Given the description of an element on the screen output the (x, y) to click on. 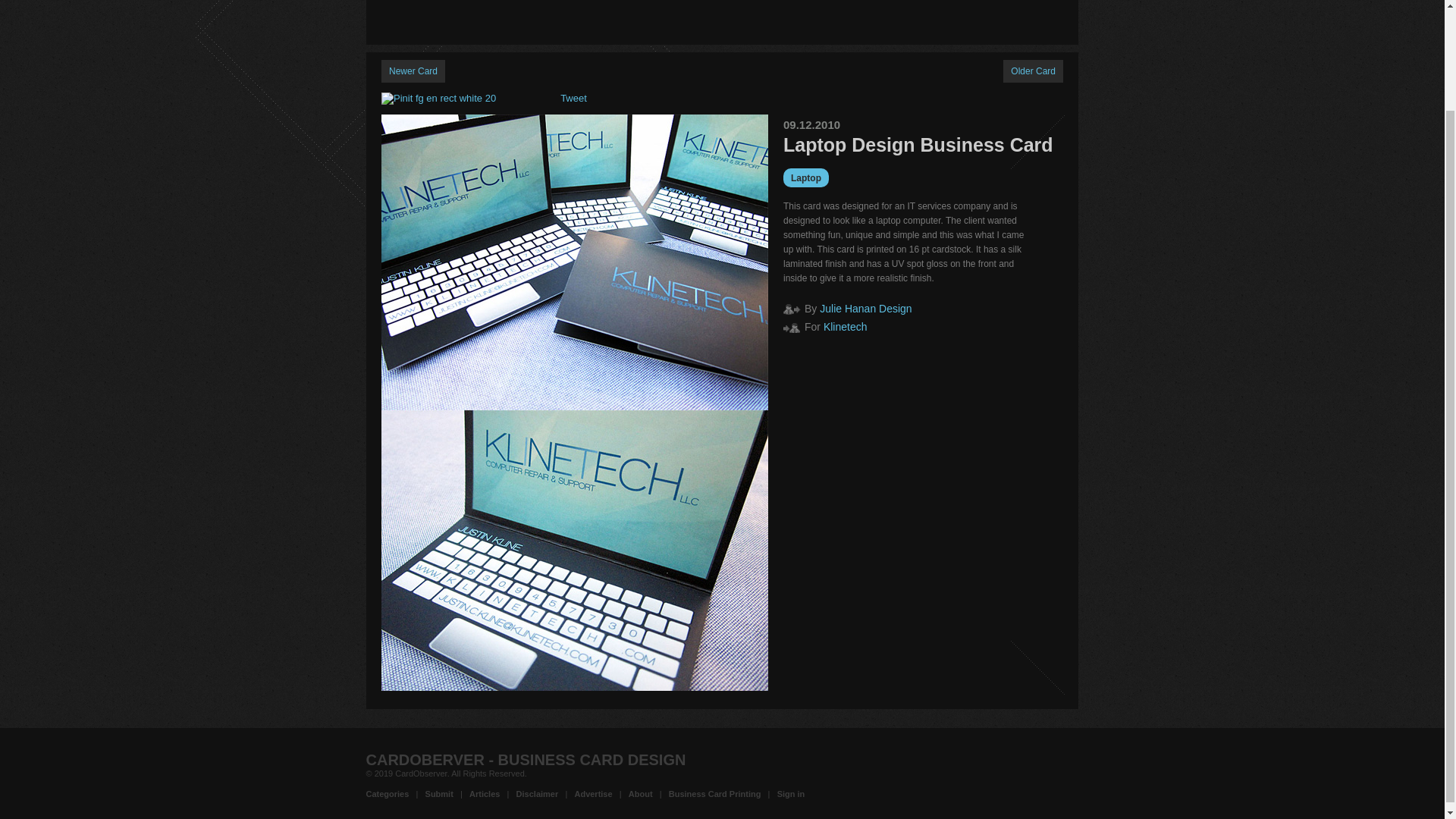
Laptop (805, 176)
About (640, 793)
Submit (438, 793)
Advertise (592, 793)
Klinetech (845, 326)
Business Card Printing (714, 793)
Disclaimer (537, 793)
Tweet (573, 98)
Julie Hanan Design (865, 308)
Sign in (791, 793)
Older Card (1032, 70)
Categories (387, 793)
Newer Card (413, 70)
Articles (483, 793)
